Given the description of an element on the screen output the (x, y) to click on. 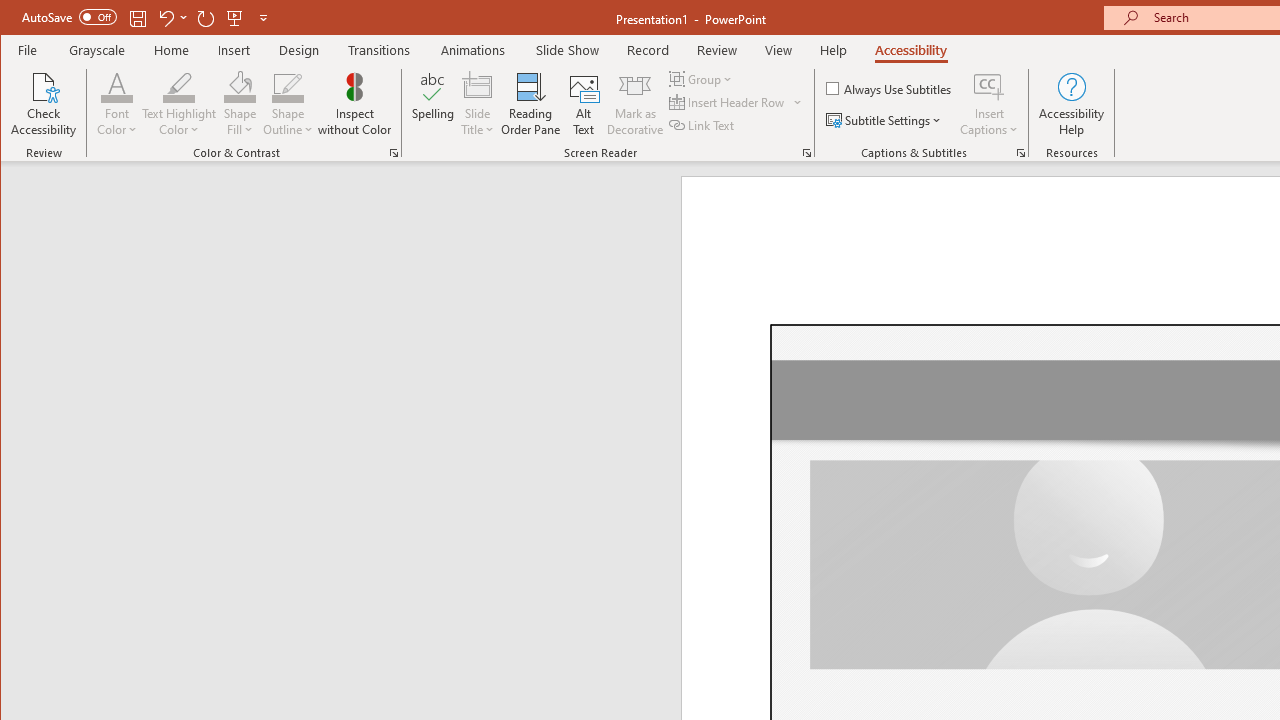
Subtitle Settings (885, 119)
Always Use Subtitles (890, 88)
Insert Captions (989, 86)
Mark as Decorative (635, 104)
Color & Contrast (393, 152)
Accessibility Help (1071, 104)
